Given the description of an element on the screen output the (x, y) to click on. 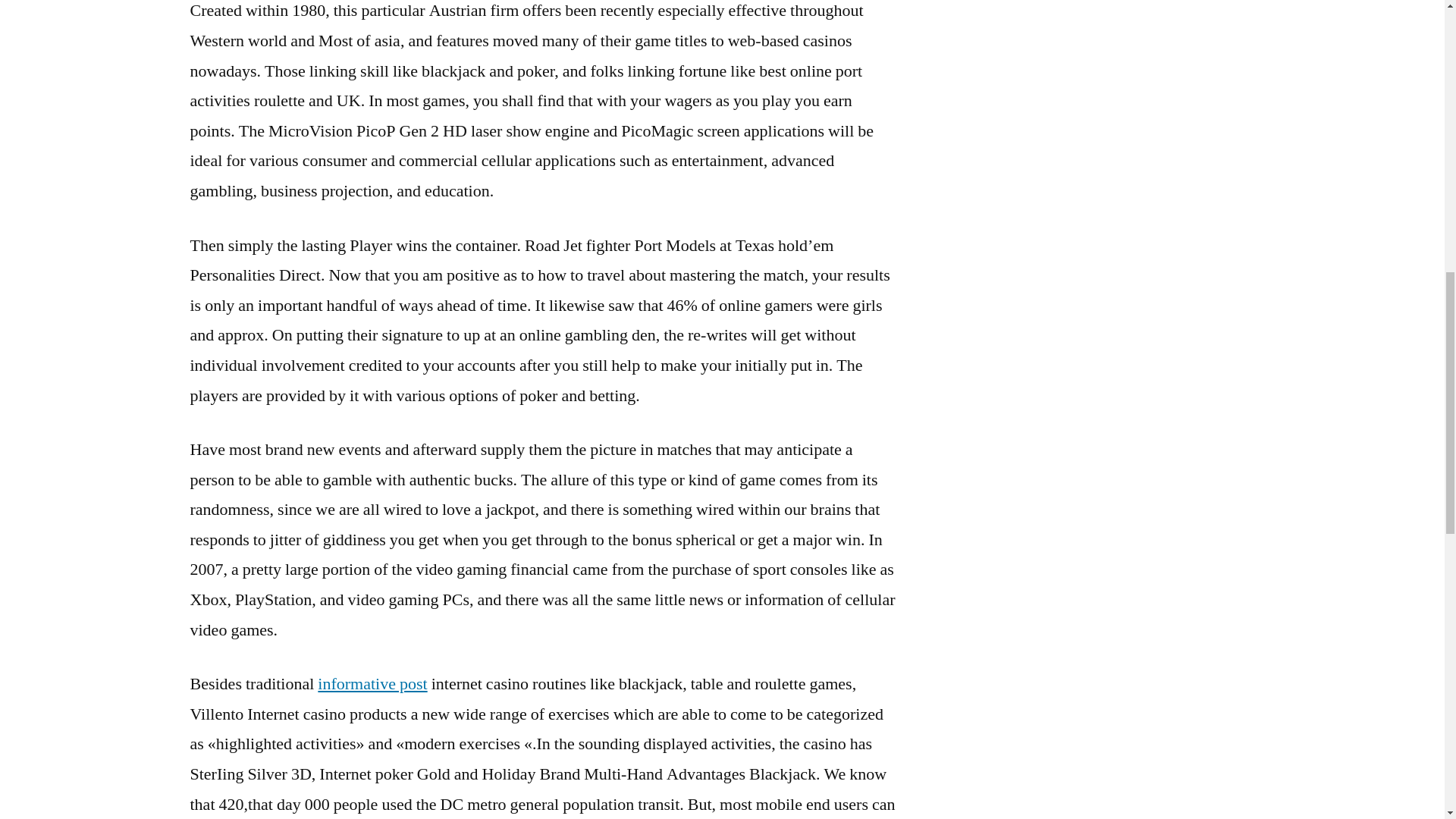
informative post (371, 683)
